Given the description of an element on the screen output the (x, y) to click on. 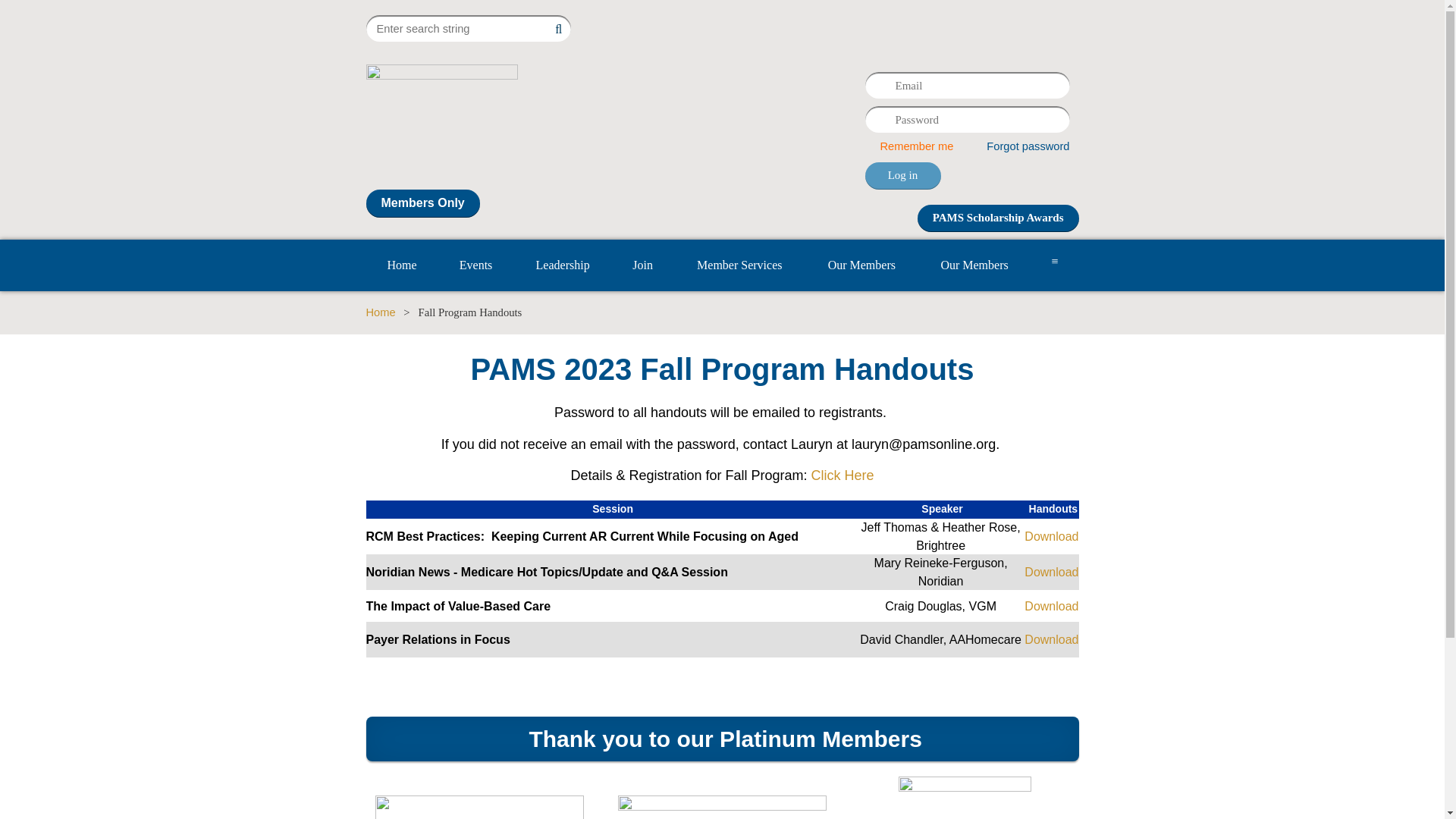
LinkedIn (1067, 25)
Home (379, 312)
Download (1051, 605)
Facebook (1002, 25)
Download (1051, 639)
Member Services (739, 265)
Member Services (739, 265)
Log in (902, 175)
Home (401, 265)
Click Here (842, 475)
